Given the description of an element on the screen output the (x, y) to click on. 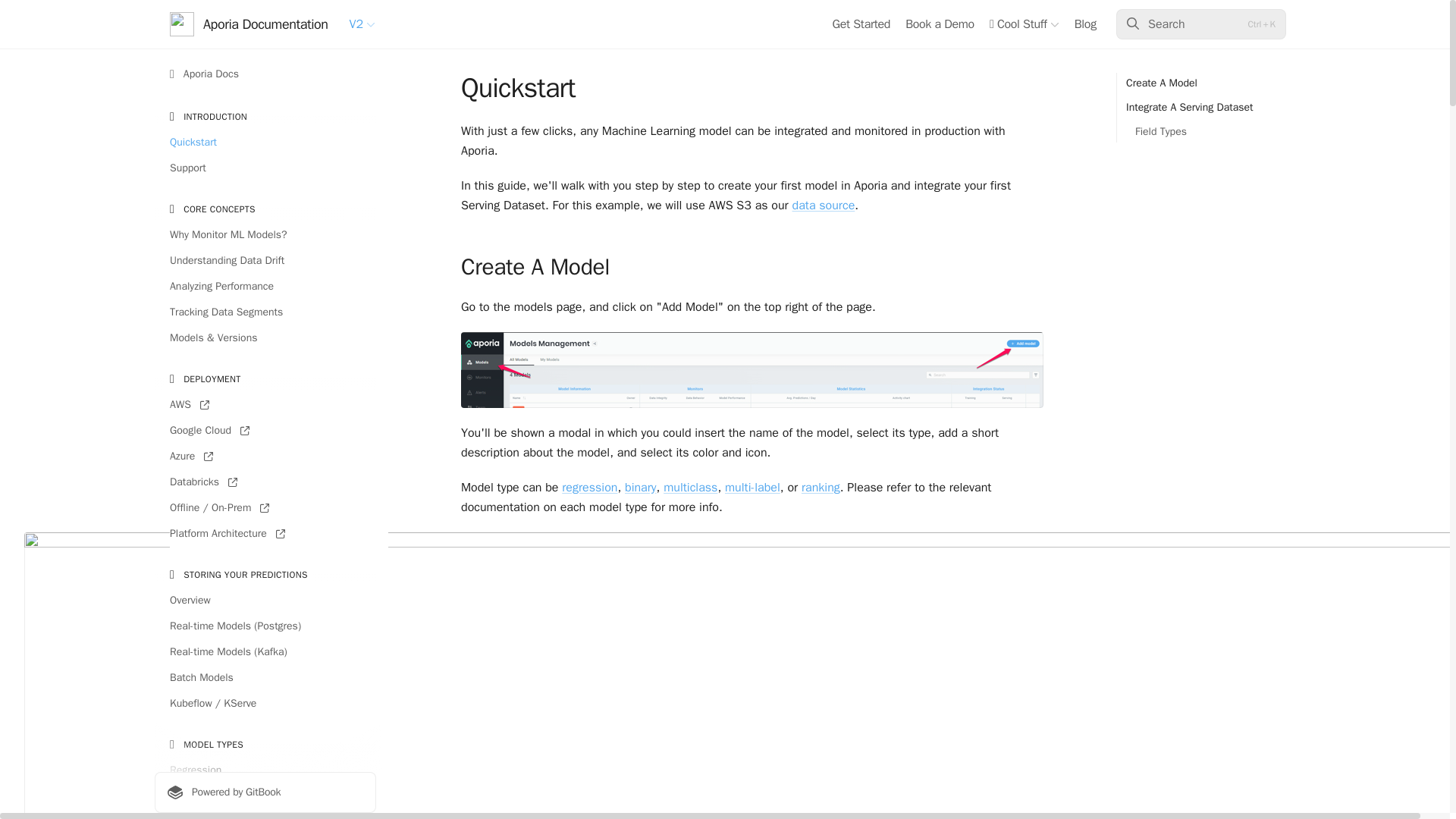
Azure (264, 456)
Book a Demo (939, 24)
Support (264, 168)
Multiclass Classification (264, 814)
Aporia Documentation (249, 24)
Understanding Data Drift (264, 260)
Why Monitor ML Models? (264, 234)
Regression (264, 770)
Tracking Data Segments (264, 312)
Batch Models (264, 677)
